Given the description of an element on the screen output the (x, y) to click on. 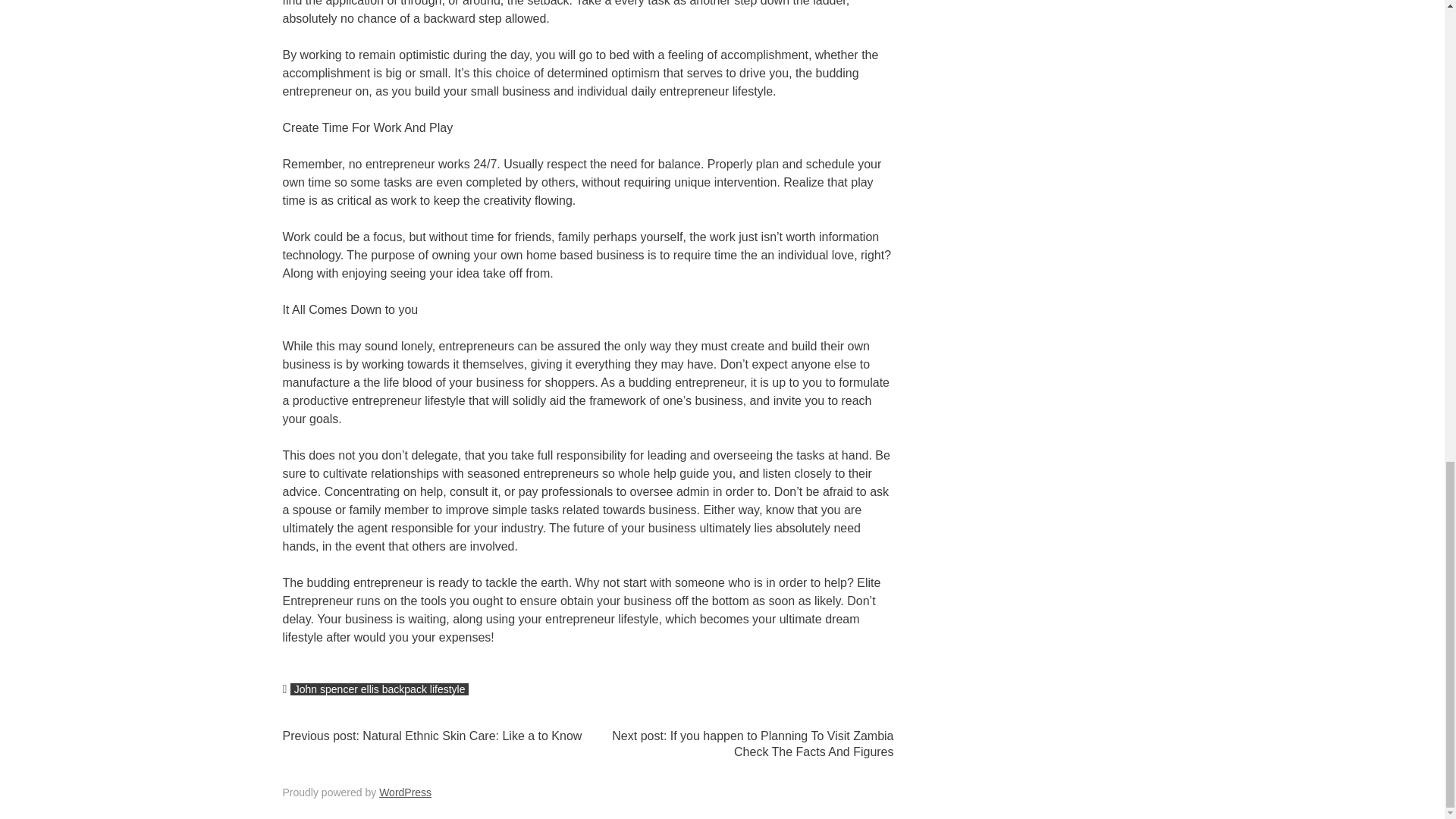
WordPress (404, 792)
John spencer ellis backpack lifestyle (378, 689)
Previous post: Natural Ethnic Skin Care: Like a to Know (431, 735)
